Given the description of an element on the screen output the (x, y) to click on. 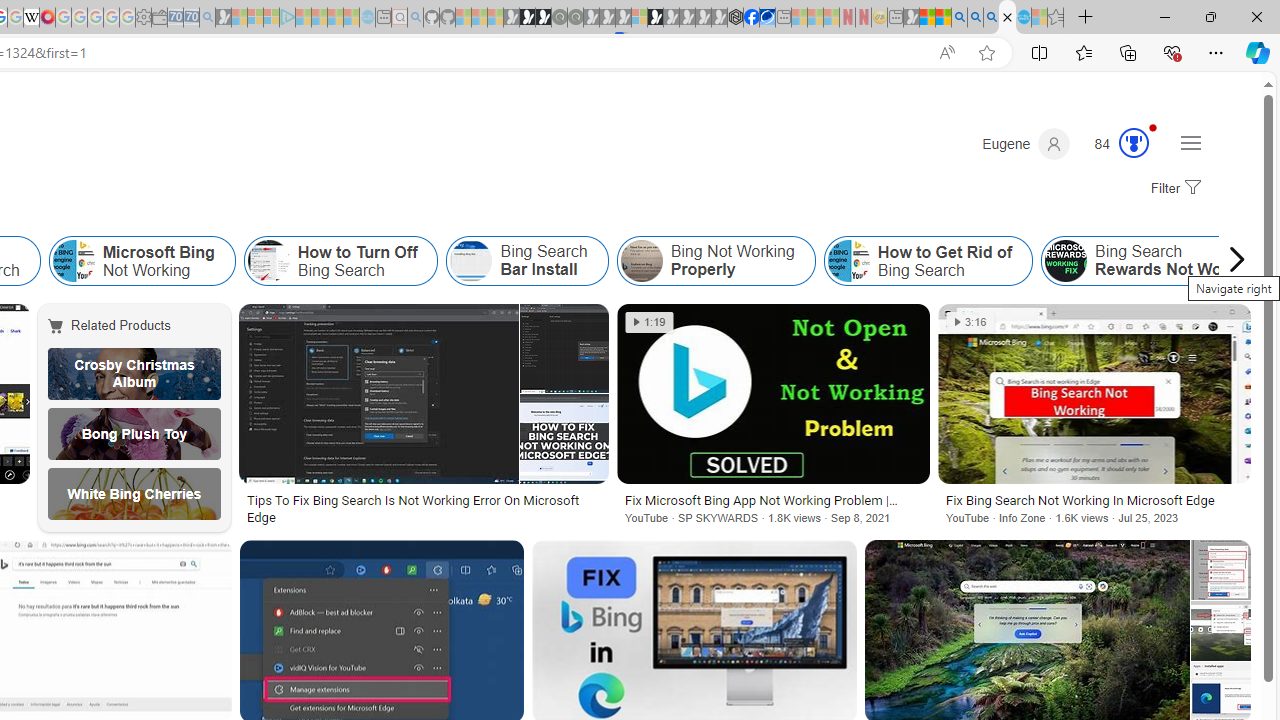
How to Turn Off Bing Search (340, 260)
Fix Bing Search Not Working In Microsoft Edge (1093, 500)
AutomationID: rh_meter (1133, 142)
Animation (1153, 127)
Microsoft Bing Not Working (73, 260)
Bing Real Estate - Home sales and rental listings - Sleeping (207, 17)
